Given the description of an element on the screen output the (x, y) to click on. 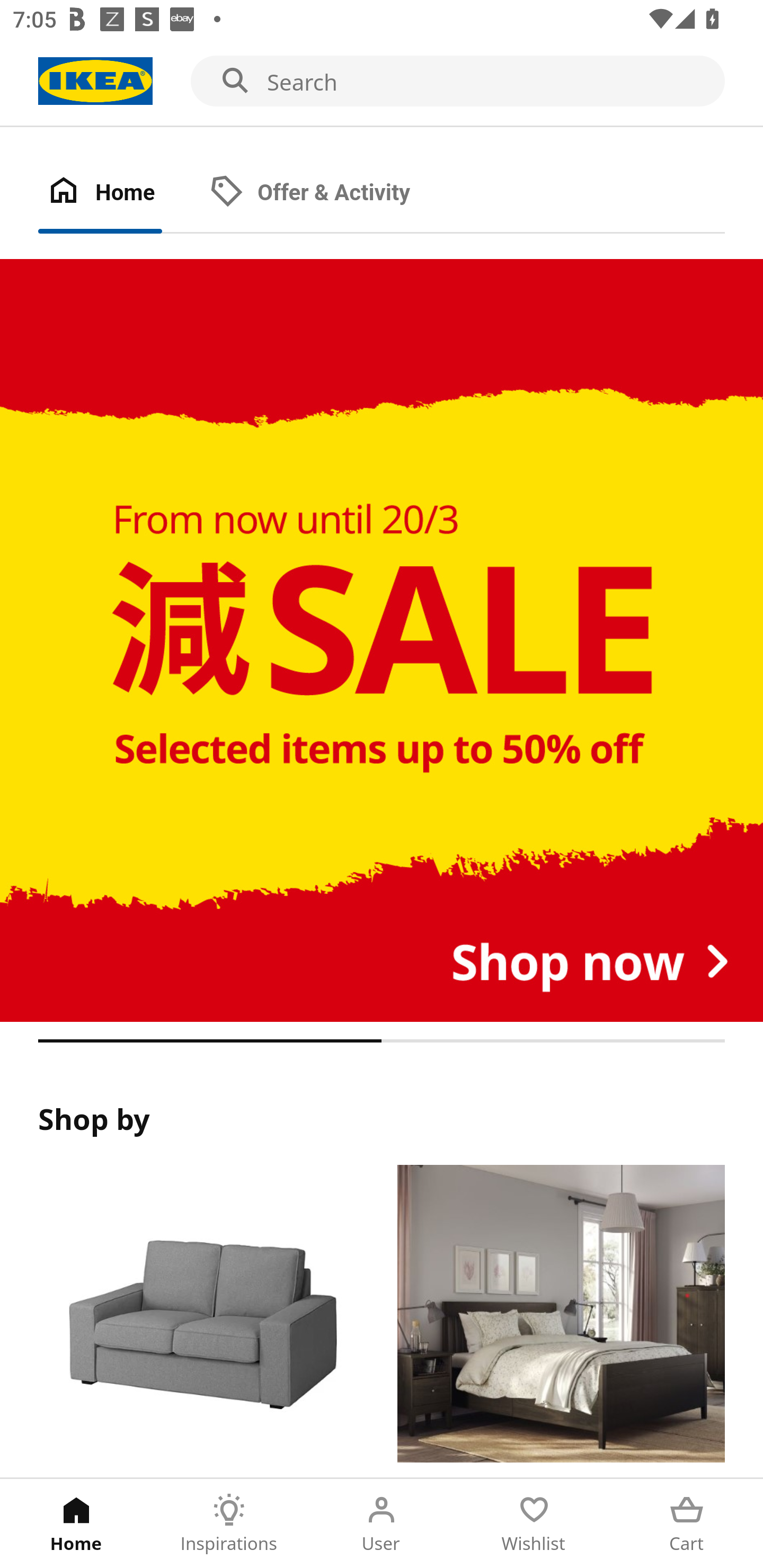
Search (381, 81)
Home
Tab 1 of 2 (118, 192)
Offer & Activity
Tab 2 of 2 (327, 192)
Products (201, 1321)
Rooms (560, 1321)
Home
Tab 1 of 5 (76, 1522)
Inspirations
Tab 2 of 5 (228, 1522)
User
Tab 3 of 5 (381, 1522)
Wishlist
Tab 4 of 5 (533, 1522)
Cart
Tab 5 of 5 (686, 1522)
